Given the description of an element on the screen output the (x, y) to click on. 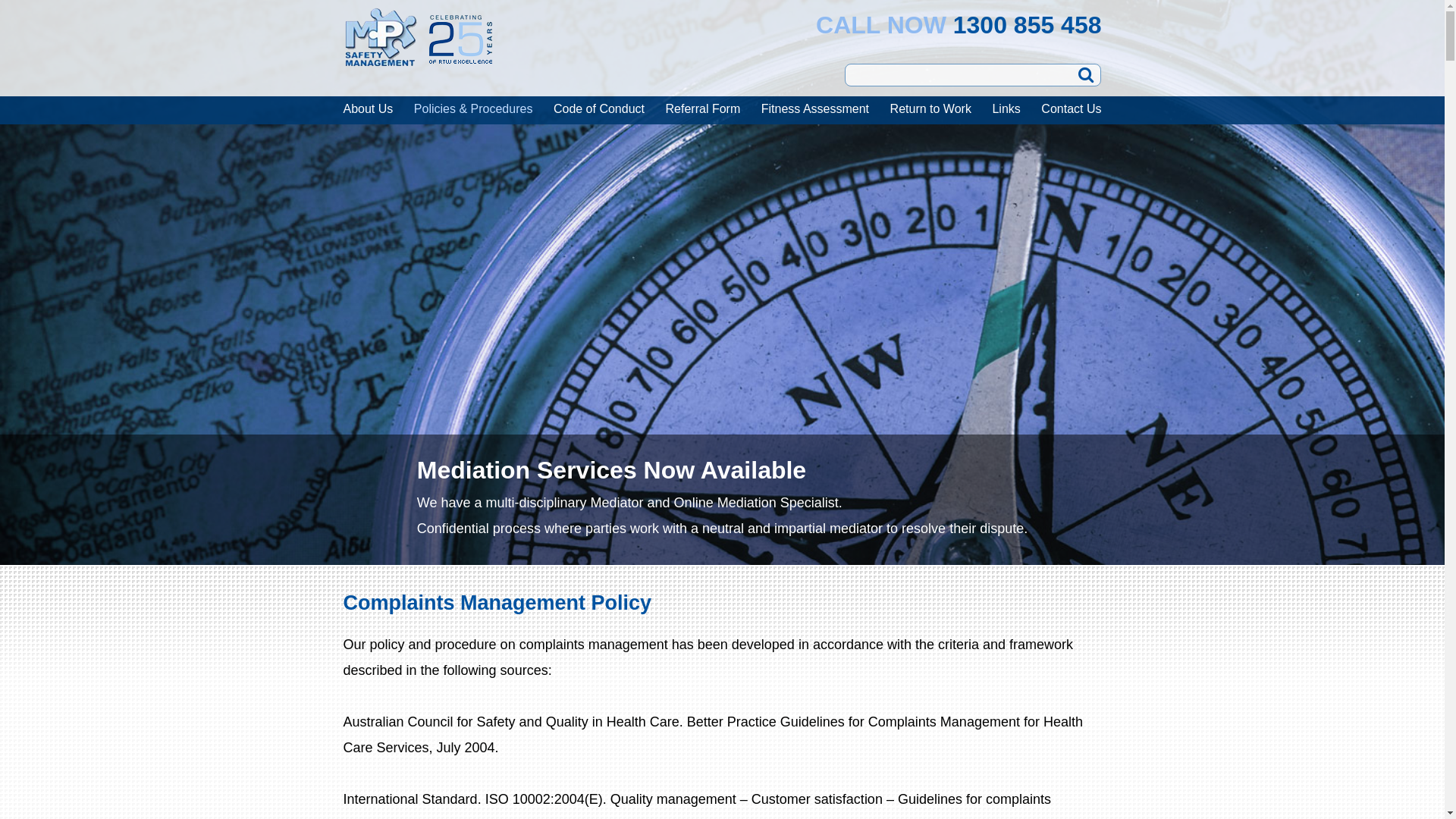
1300 855 458 Element type: text (1027, 24)
Referral Form Element type: text (702, 108)
Code of Conduct Element type: text (598, 108)
Return to Work Element type: text (930, 108)
Fitness Assessment Element type: text (815, 108)
About Us Element type: text (367, 108)
Policies & Procedures Element type: text (473, 108)
Contact Us Element type: text (1071, 108)
Links Element type: text (1005, 108)
Complaints Management Policy Element type: text (496, 602)
